Given the description of an element on the screen output the (x, y) to click on. 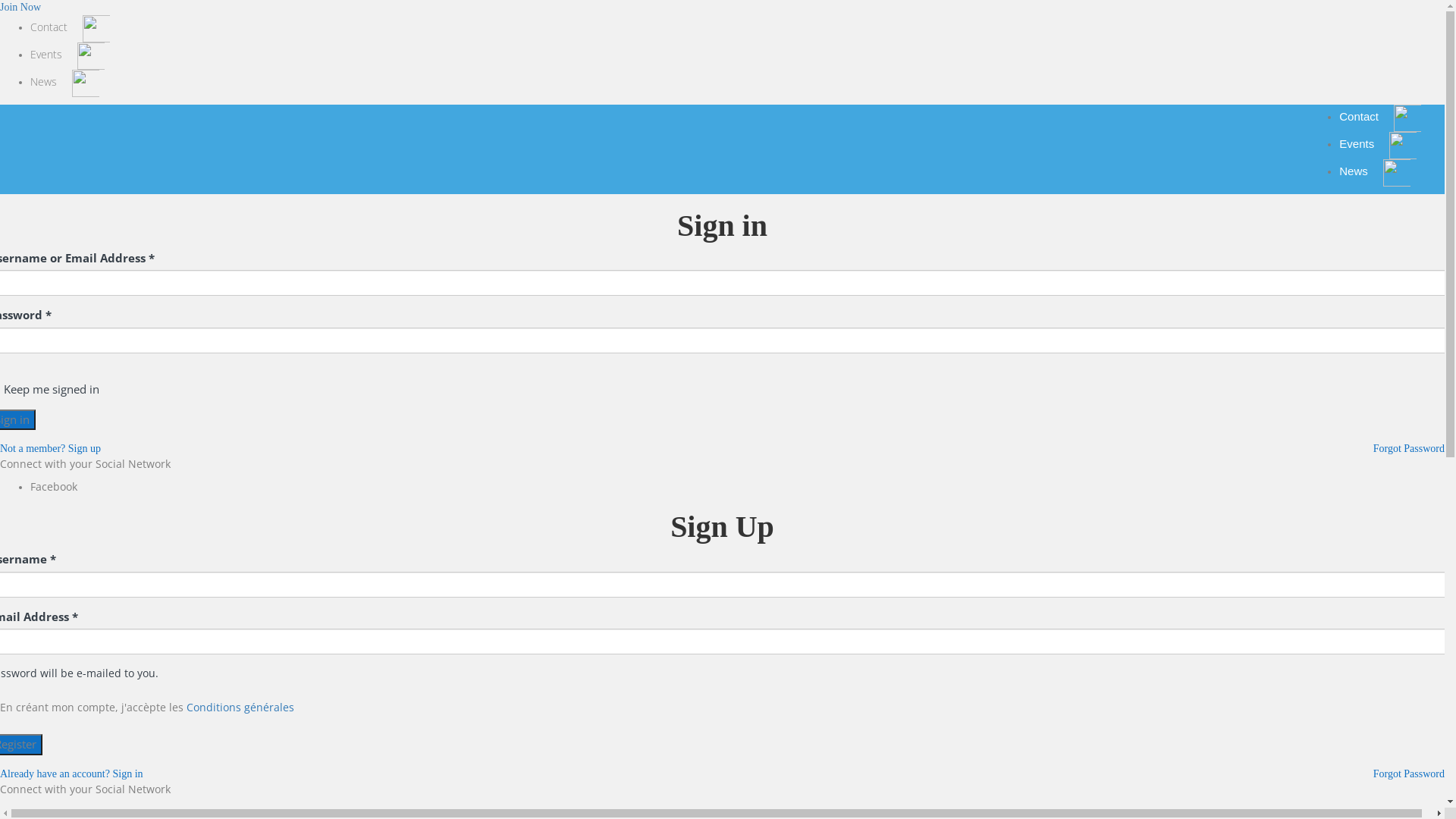
Contact Element type: text (69, 27)
Forgot Password Element type: text (1408, 448)
News Element type: text (1374, 171)
Already have an account? Sign in Element type: text (71, 773)
Facebook Element type: text (53, 486)
Not a member? Sign up Element type: text (50, 448)
Join Now Element type: text (20, 6)
Events Element type: text (67, 54)
News Element type: text (64, 81)
Events Element type: text (1377, 144)
Contact Element type: text (1380, 116)
Forgot Password Element type: text (1408, 773)
